Given the description of an element on the screen output the (x, y) to click on. 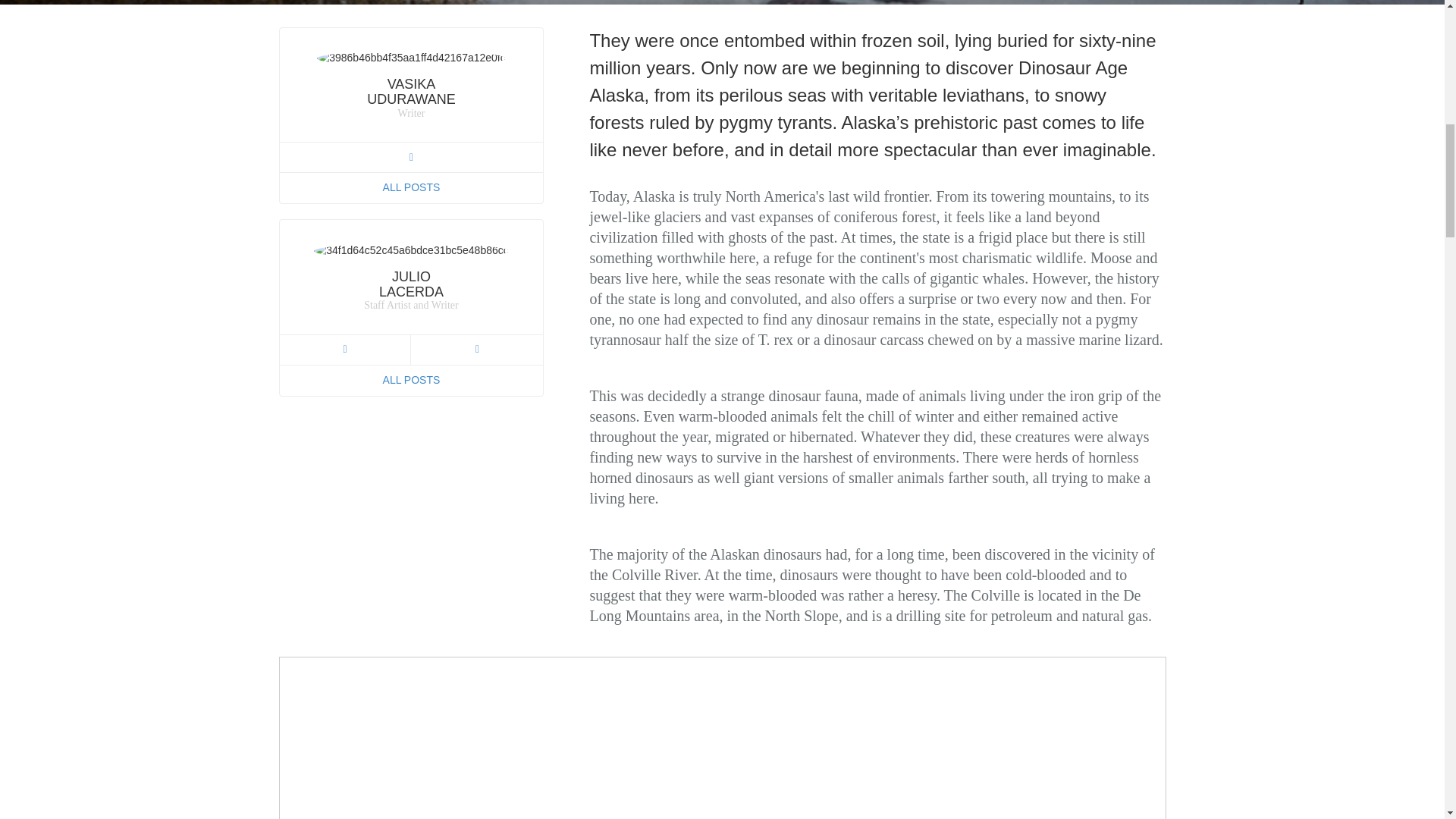
The dinosaur and the aurora (139, 738)
ALL POSTS (411, 186)
ALL POSTS (411, 379)
